Given the description of an element on the screen output the (x, y) to click on. 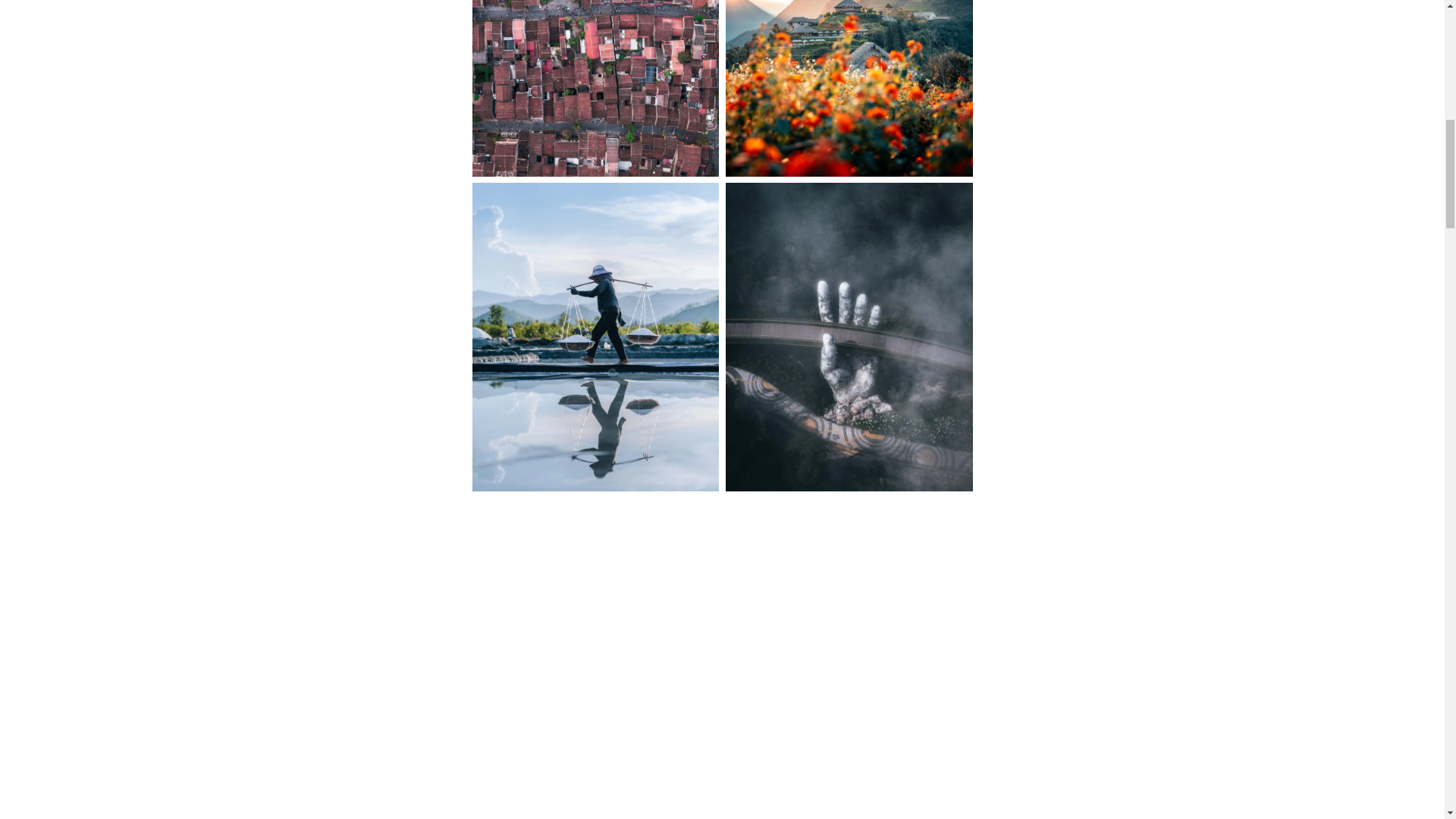
Benjamin Tortorelli 8 (848, 816)
Benjamin Tortorelli 7 (595, 816)
Benjamin Tortorelli 2 (848, 88)
Benjamin Tortorelli 1 (595, 88)
